Given the description of an element on the screen output the (x, y) to click on. 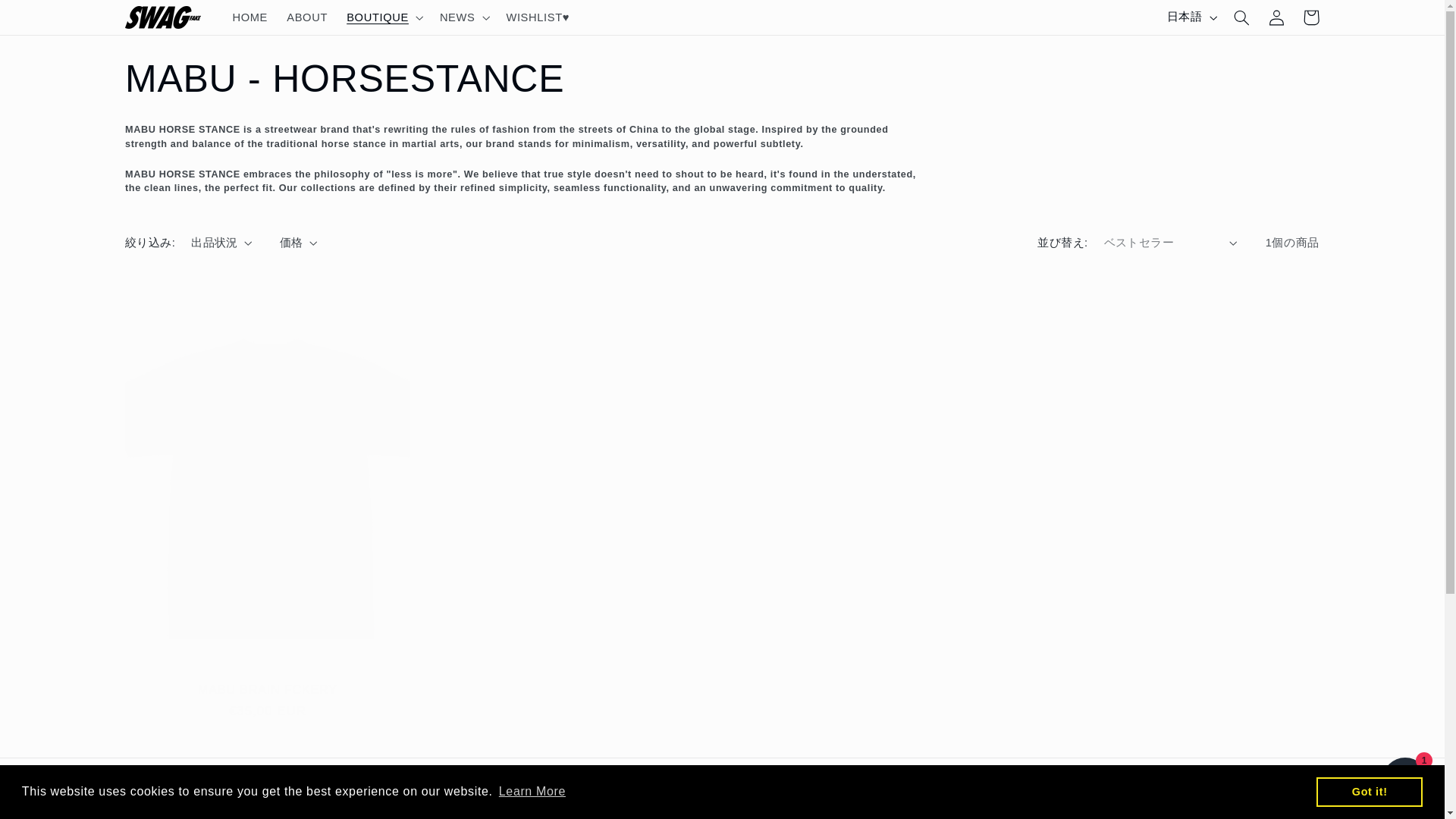
ABOUT (307, 17)
HOME (250, 17)
Got it! (1369, 791)
Learn More (532, 791)
